Given the description of an element on the screen output the (x, y) to click on. 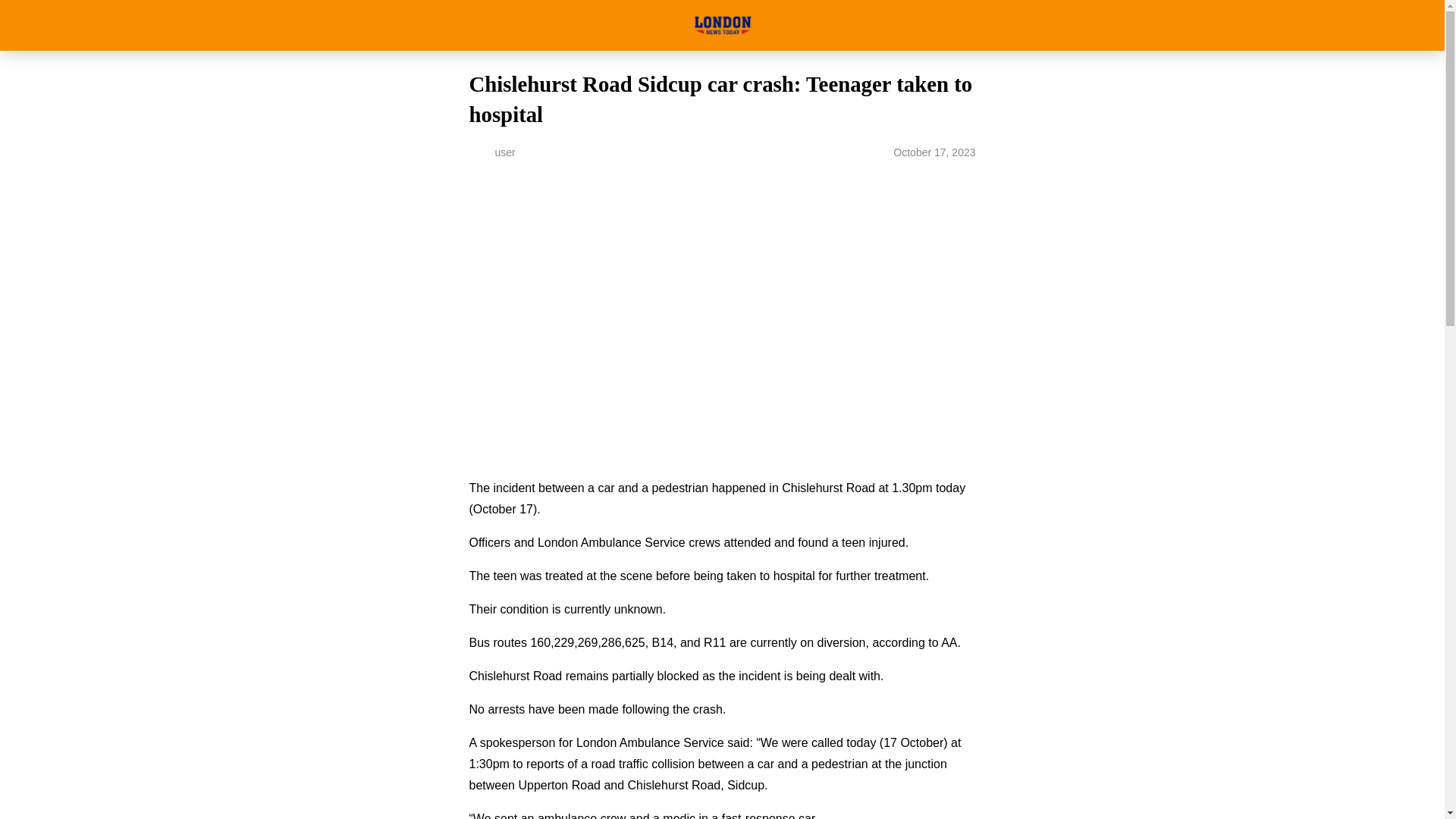
Londonnewstime.com (721, 25)
